Given the description of an element on the screen output the (x, y) to click on. 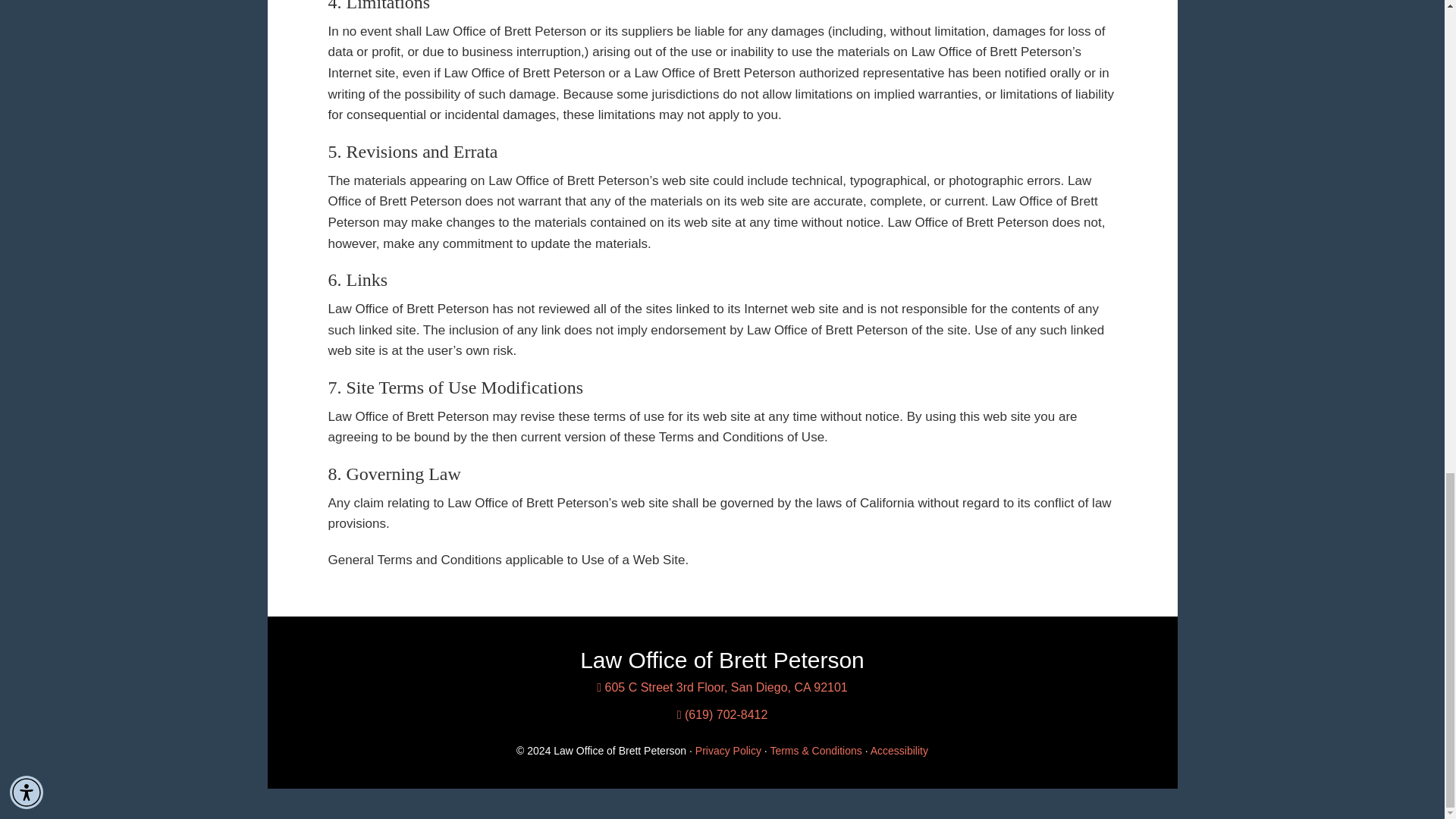
Accessibility (899, 750)
605 C Street 3rd Floor, San Diego, CA 92101 (721, 687)
Privacy Policy (728, 750)
